Given the description of an element on the screen output the (x, y) to click on. 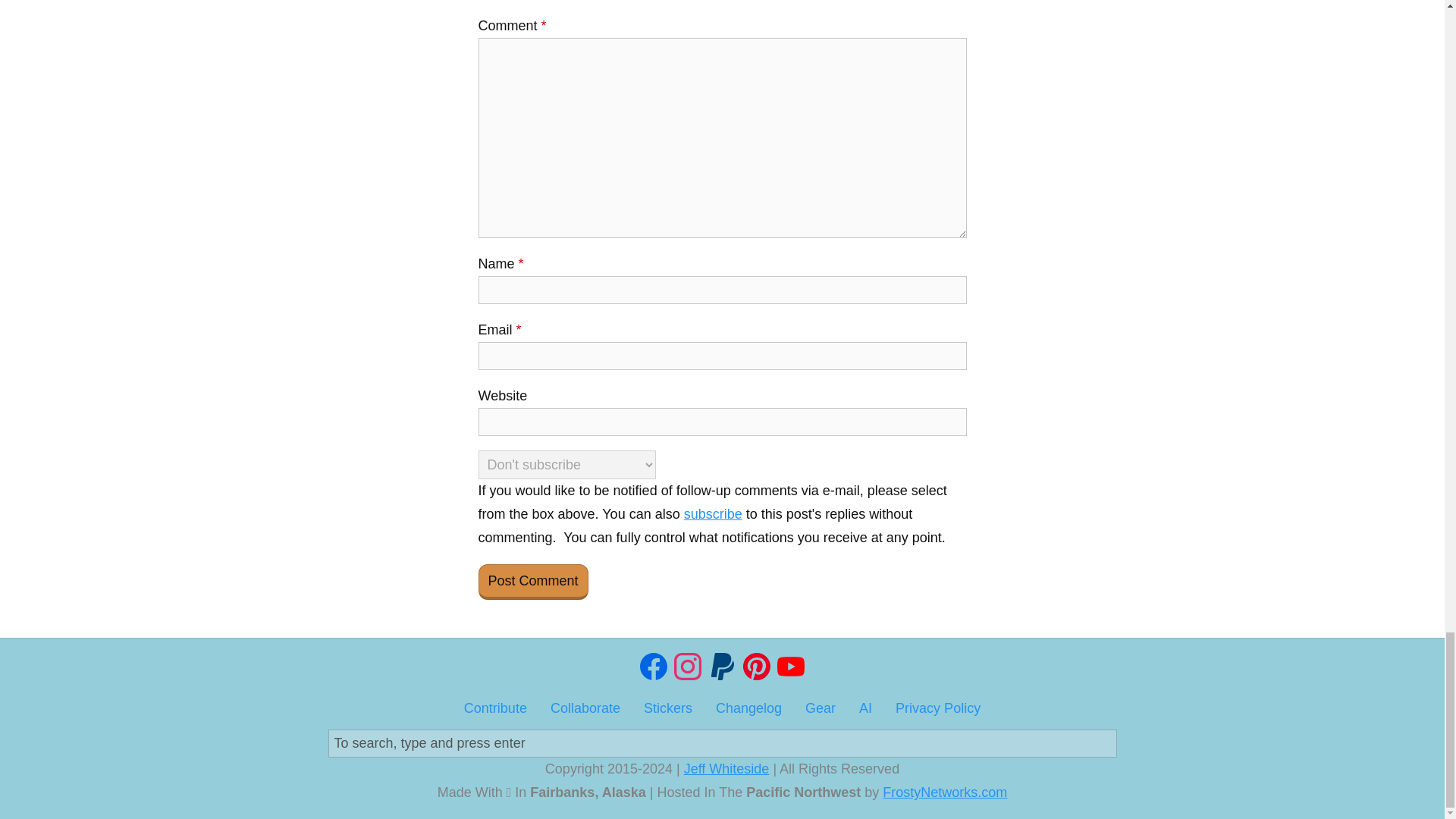
Collaborate (585, 708)
Contribute (495, 708)
subscribe (713, 513)
Post Comment (532, 581)
Post Comment (532, 581)
To search, type and press enter (721, 743)
